Given the description of an element on the screen output the (x, y) to click on. 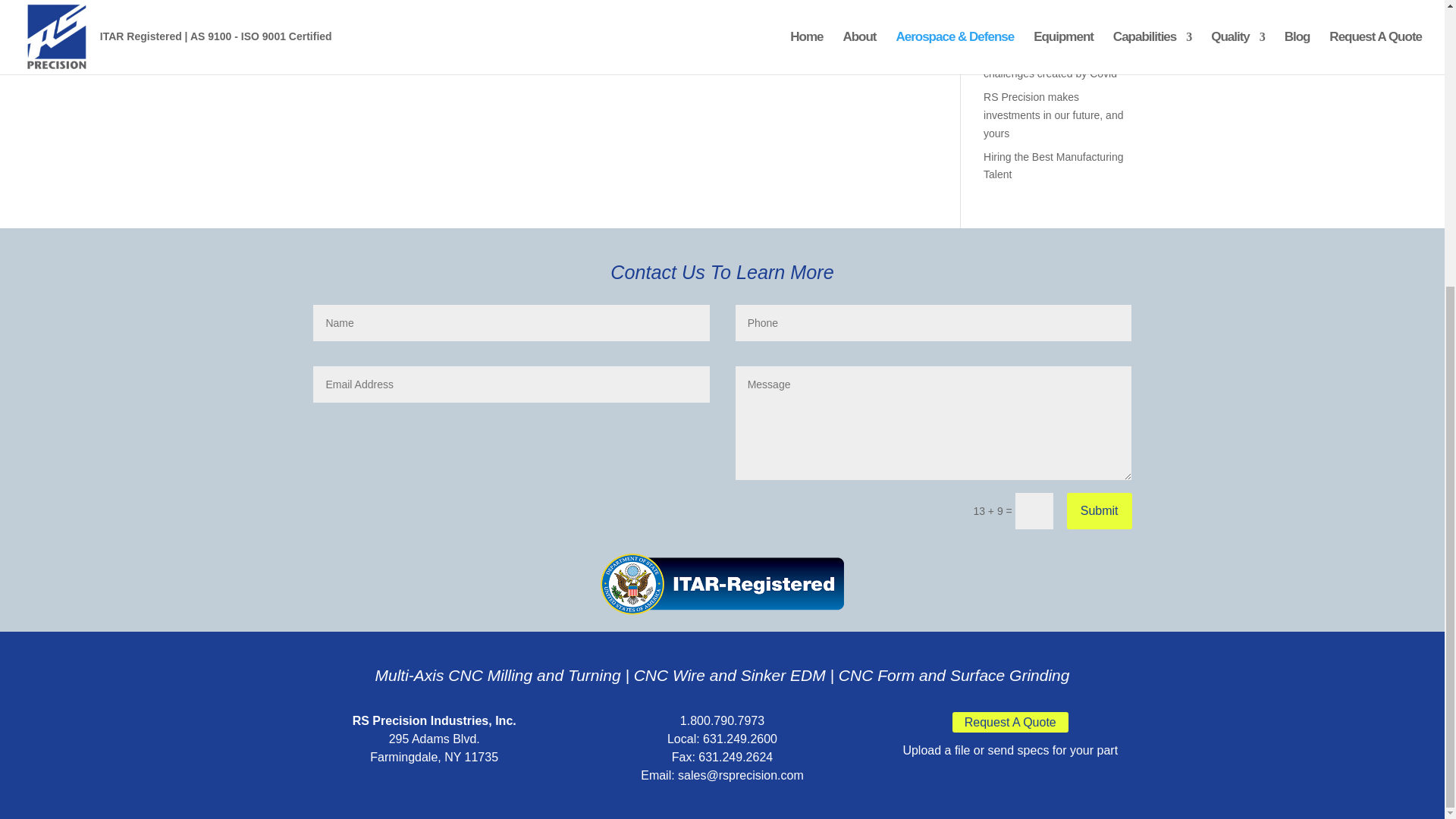
RS Precision makes investments in our future, and yours (1053, 114)
itar (721, 584)
